Given the description of an element on the screen output the (x, y) to click on. 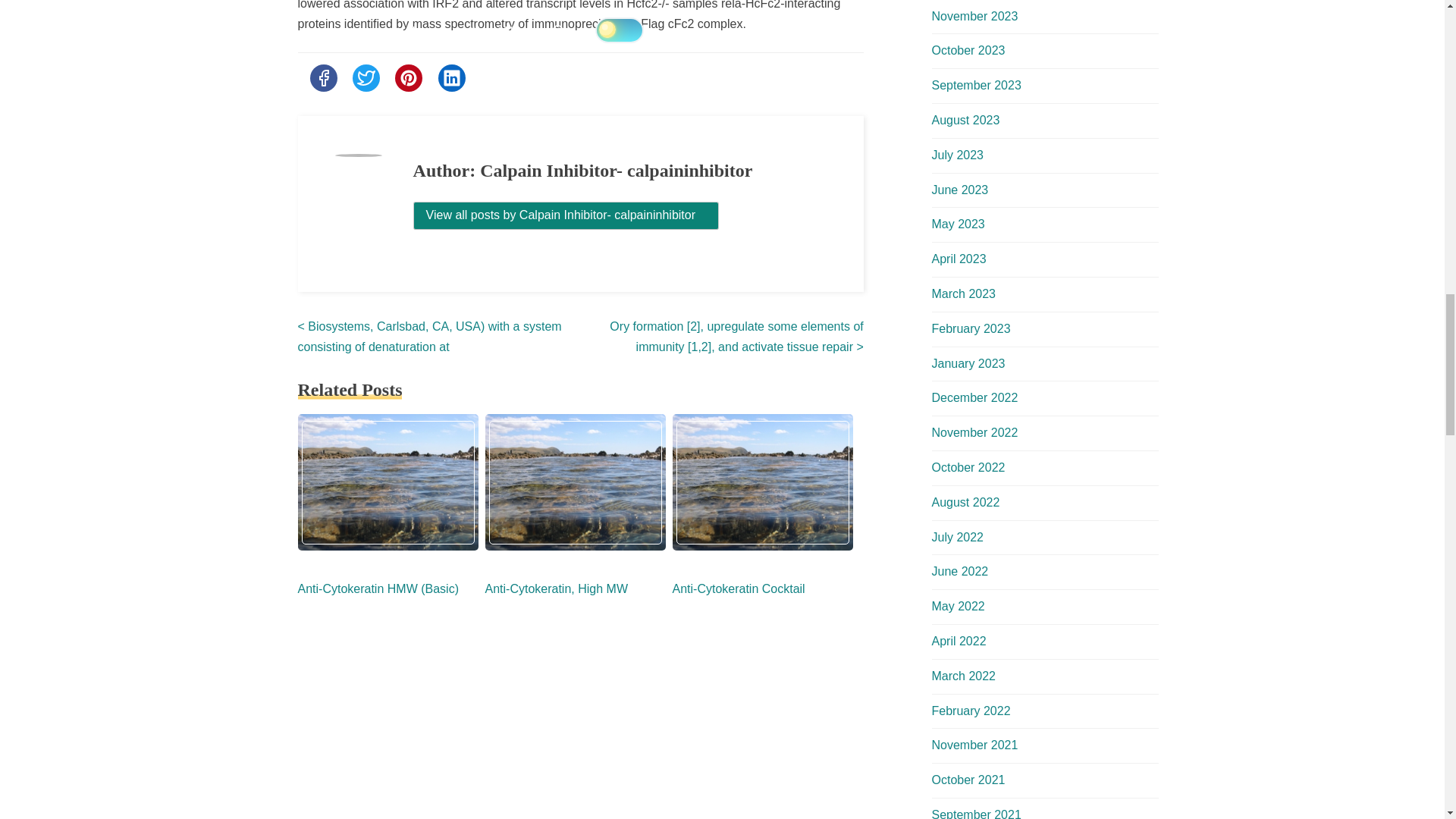
View all posts by Calpain Inhibitor- calpaininhibitor (566, 215)
Share this post on Linkedin (451, 77)
Anti-Cytokeratin Cocktail (738, 588)
View all posts by Calpain Inhibitor- calpaininhibitor (566, 214)
Anti-Cytokeratin, High MW (556, 588)
Share this post on Pinterest (408, 77)
Share this post on Twitter (366, 77)
Share this post on Facebook (322, 77)
